Given the description of an element on the screen output the (x, y) to click on. 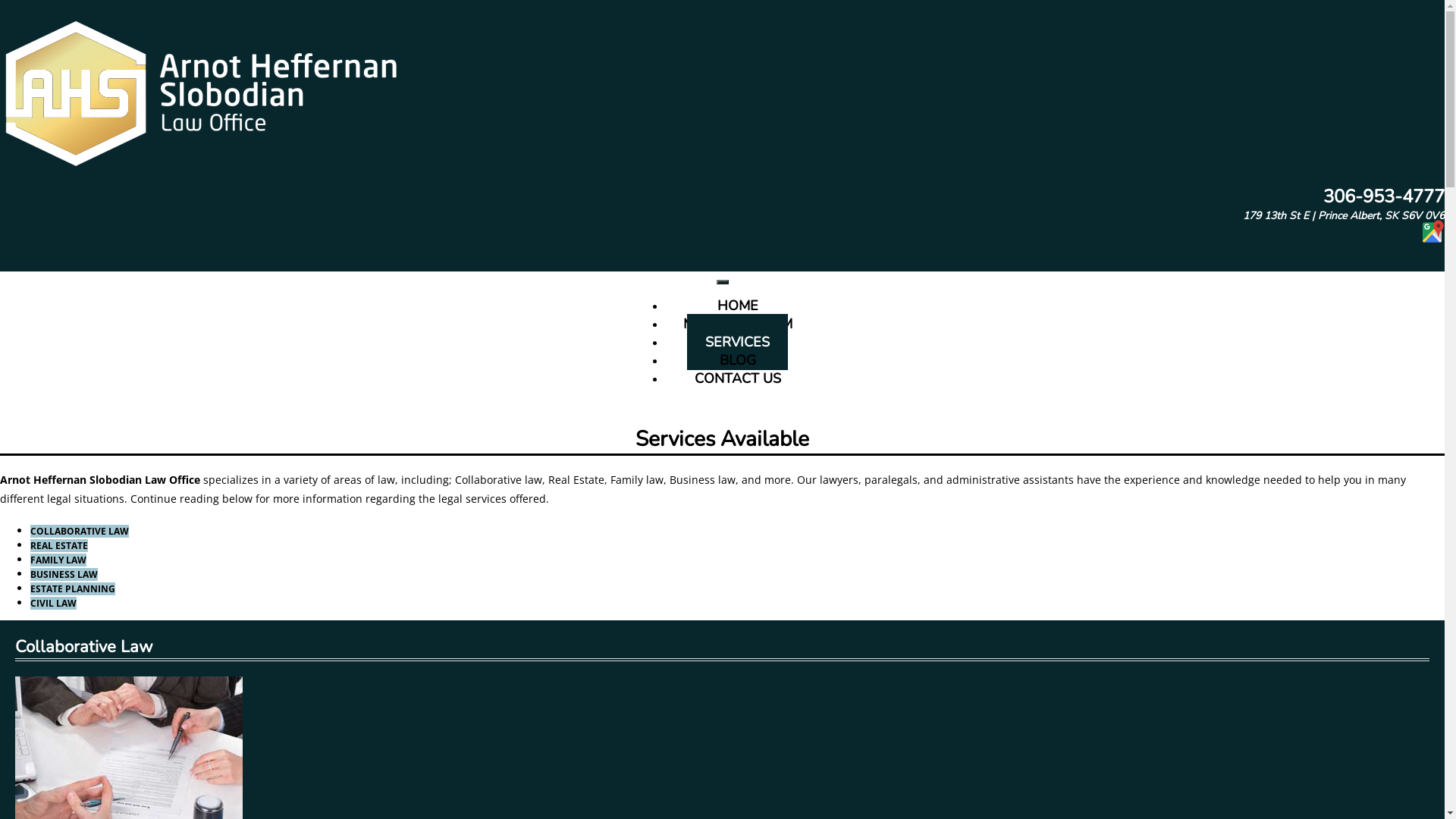
Arnot Heffernan Slobodian Law Office Element type: hover (201, 90)
179 13th St E | Prince Albert, SK S6V 0V6 Element type: text (1343, 215)
BLOG Element type: text (736, 360)
SERVICES Element type: text (737, 341)
CONTACT US Element type: text (737, 378)
CIVIL LAW Element type: text (53, 602)
HOME Element type: text (737, 305)
REAL ESTATE Element type: text (58, 545)
Arnot Heffernan Slobodian Law Office Element type: text (100, 479)
COLLABORATIVE LAW Element type: text (79, 530)
MEET THE TEAM Element type: text (736, 323)
 306-953-4777 Element type: text (1381, 196)
FAMILY LAW Element type: text (58, 559)
ESTATE PLANNING Element type: text (72, 588)
BUSINESS LAW Element type: text (63, 573)
